Given the description of an element on the screen output the (x, y) to click on. 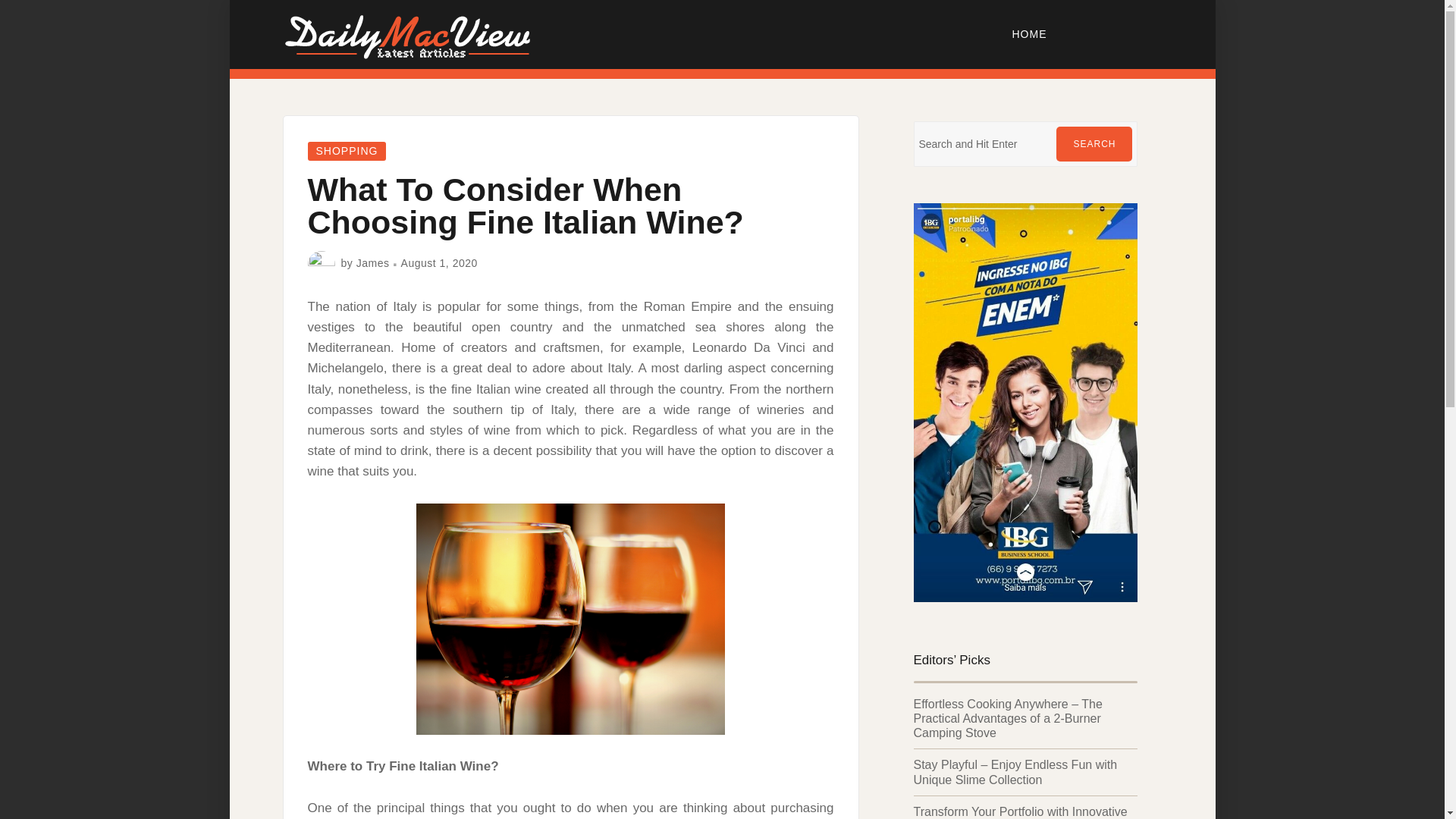
SEARCH (1094, 143)
James (373, 263)
August 1, 2020 (439, 263)
HOME (1030, 33)
SHOPPING (347, 150)
